Given the description of an element on the screen output the (x, y) to click on. 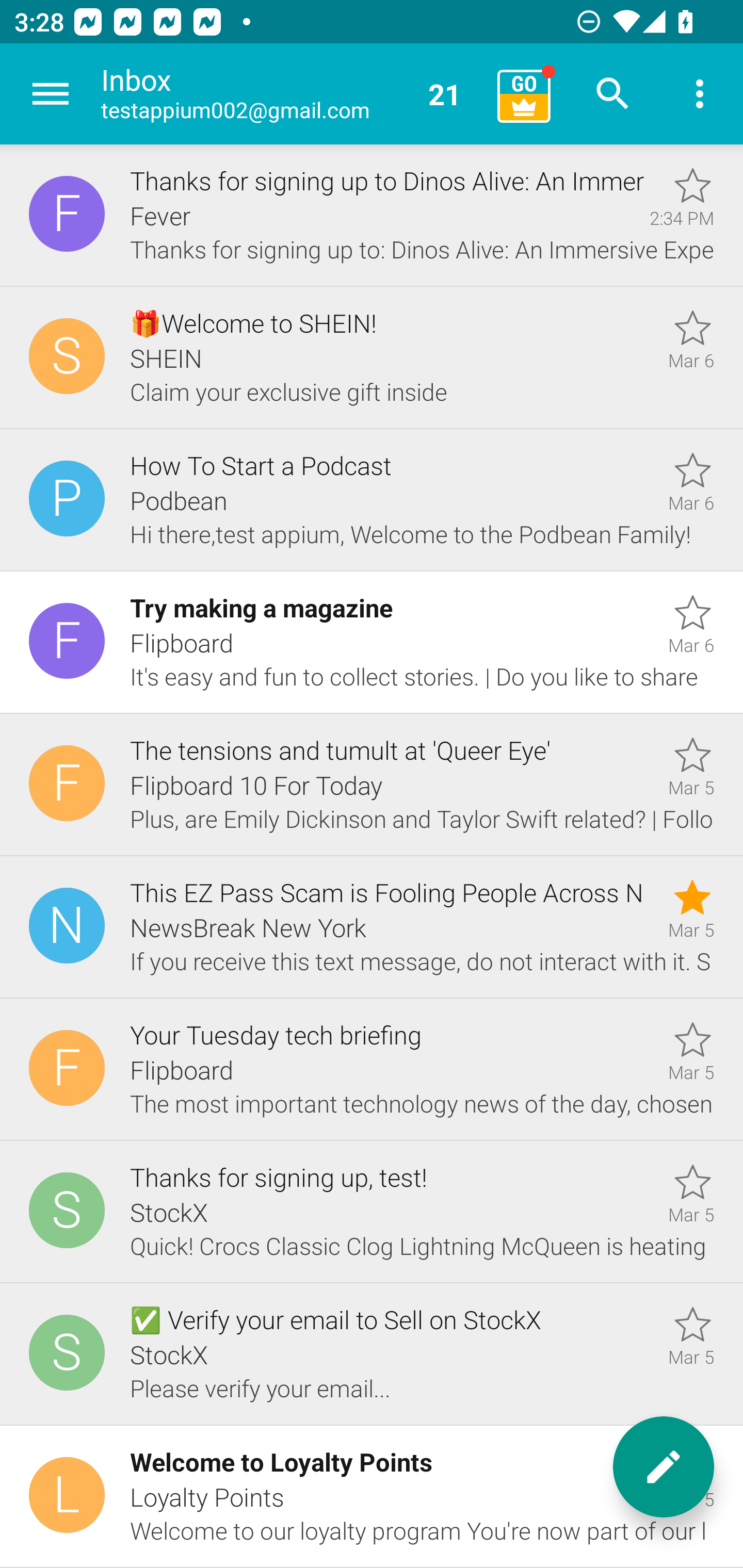
Navigate up (50, 93)
Inbox testappium002@gmail.com 21 (291, 93)
Search (612, 93)
More options (699, 93)
New message (663, 1466)
